Given the description of an element on the screen output the (x, y) to click on. 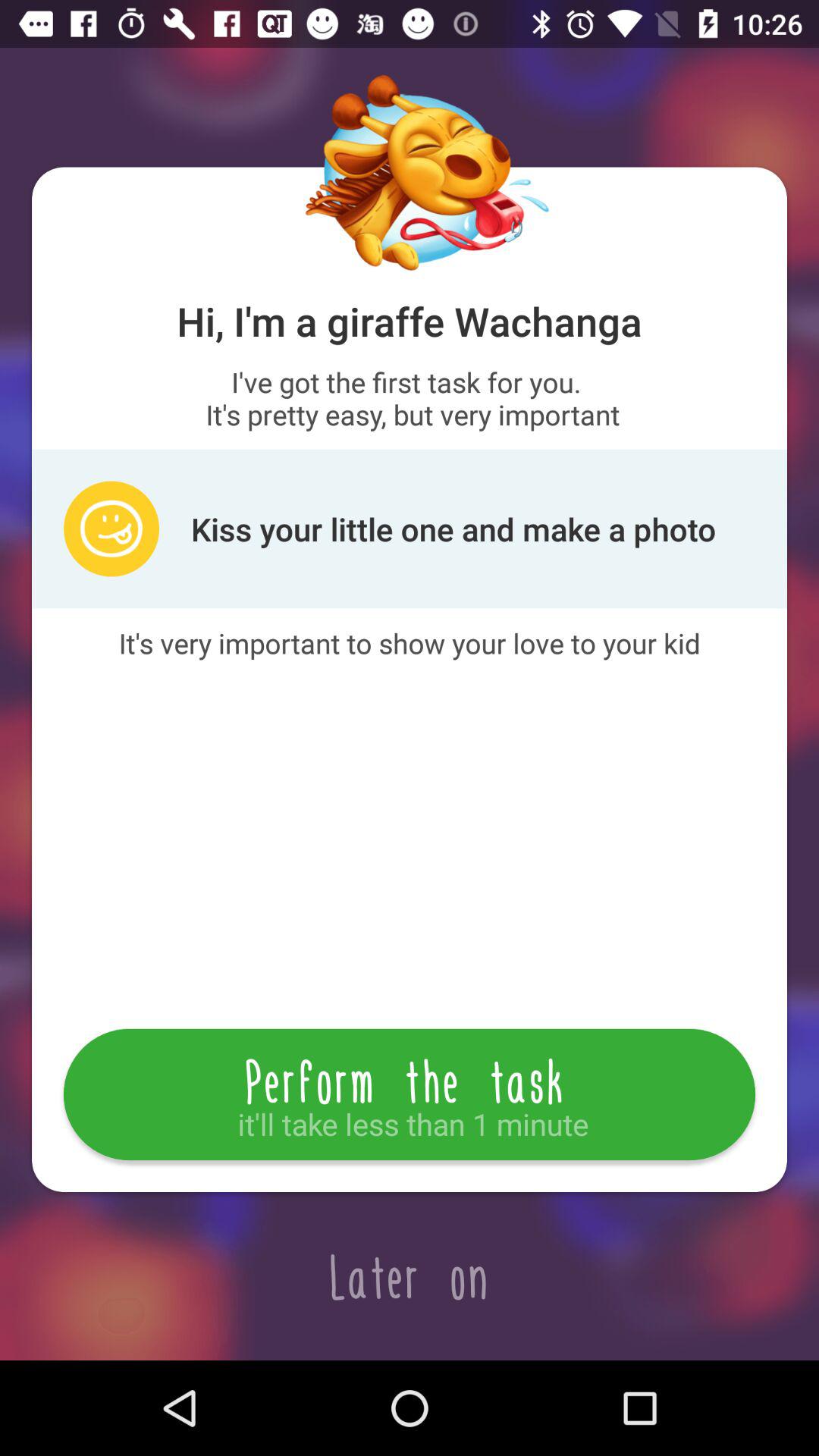
click later on (409, 1276)
